Given the description of an element on the screen output the (x, y) to click on. 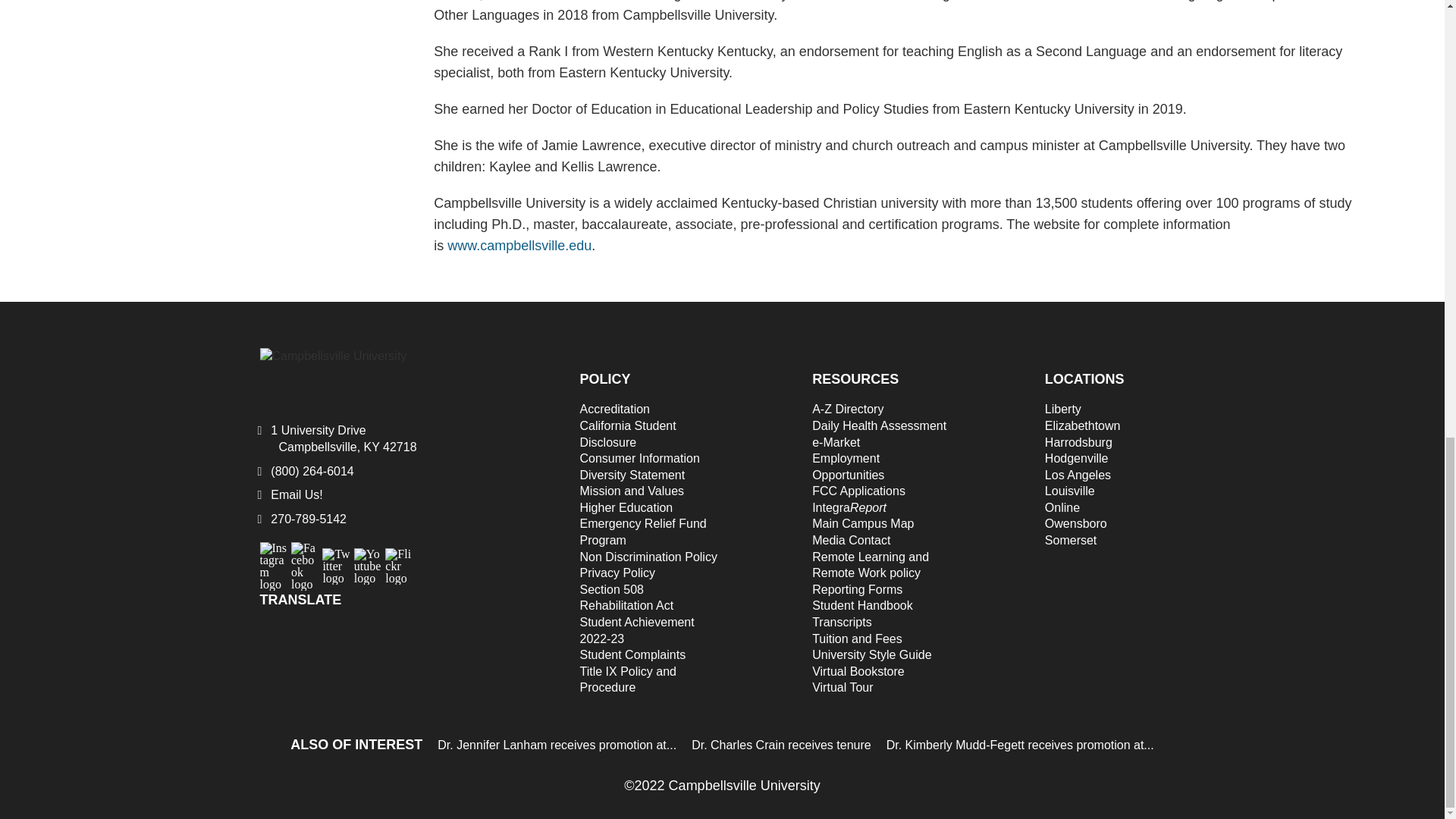
Youtube (367, 561)
Flickr (399, 561)
Instagram (272, 556)
Twitter (335, 561)
Facebook (304, 556)
